Given the description of an element on the screen output the (x, y) to click on. 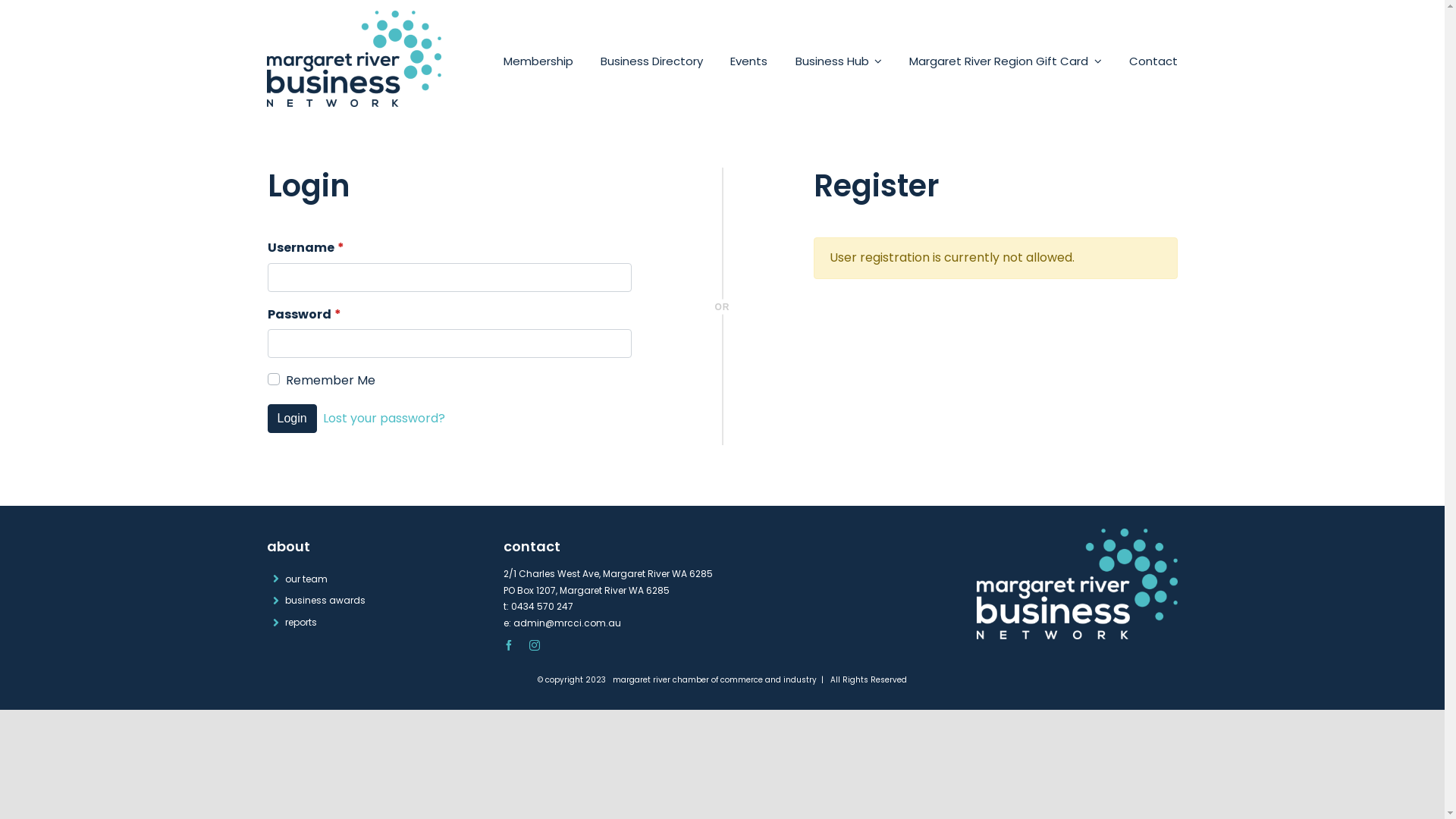
Business Hub Element type: text (837, 61)
Margaret River Region Gift Card Element type: text (1005, 61)
reports Element type: text (366, 622)
Events Element type: text (748, 61)
our team Element type: text (366, 578)
Login Element type: text (291, 418)
Membership Element type: text (538, 61)
business awards Element type: text (366, 600)
Contact Element type: text (1153, 61)
Business Directory Element type: text (651, 61)
Lost your password? Element type: text (384, 418)
